Given the description of an element on the screen output the (x, y) to click on. 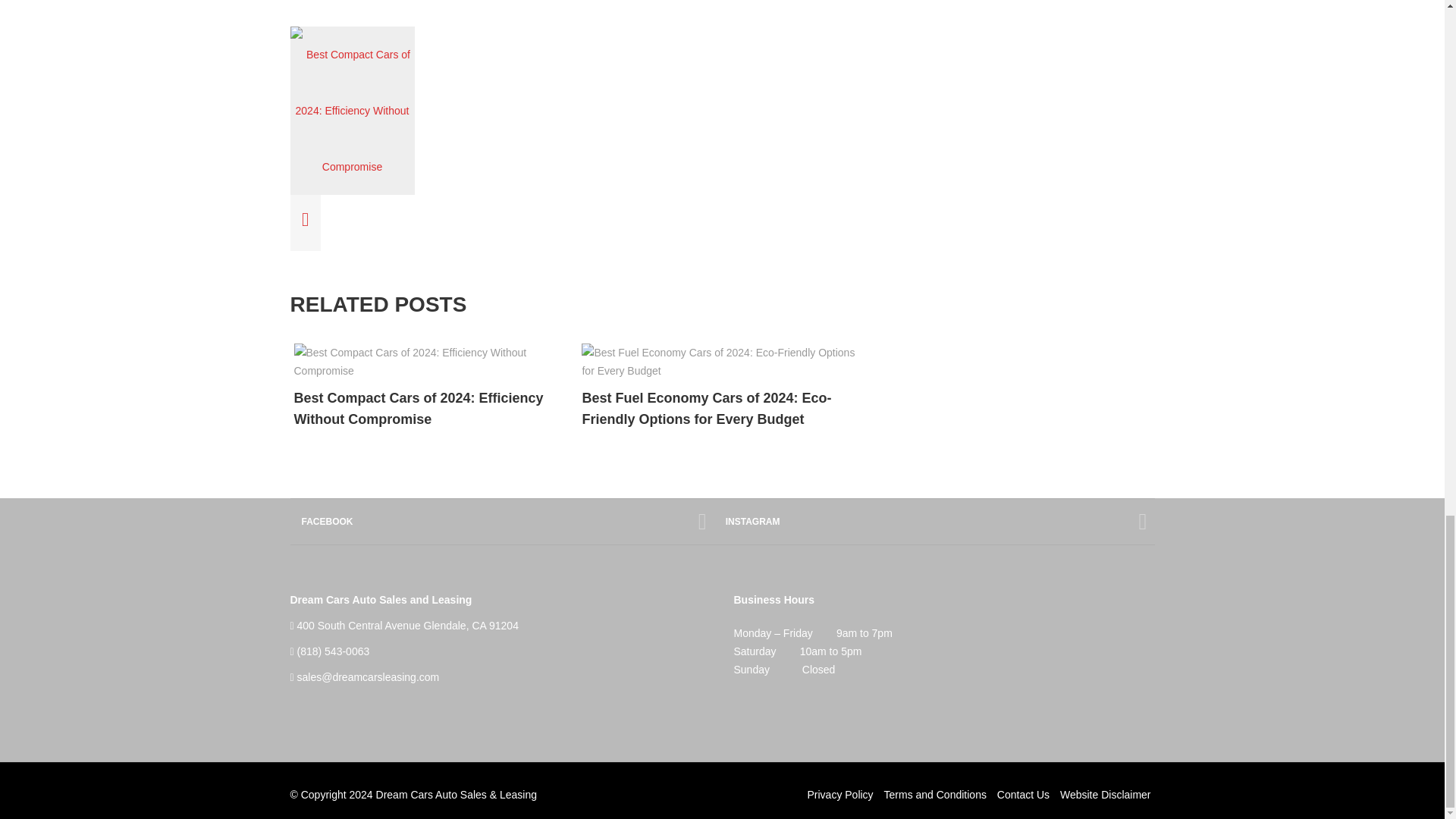
Website Disclaimer (1105, 794)
FACEBOOK (501, 521)
Terms and Conditions (935, 794)
INSTAGRAM (934, 521)
Best Compact Cars of 2024: Efficiency Without Compromise (434, 408)
Privacy Policy (839, 794)
Contact Us (1023, 794)
